Given the description of an element on the screen output the (x, y) to click on. 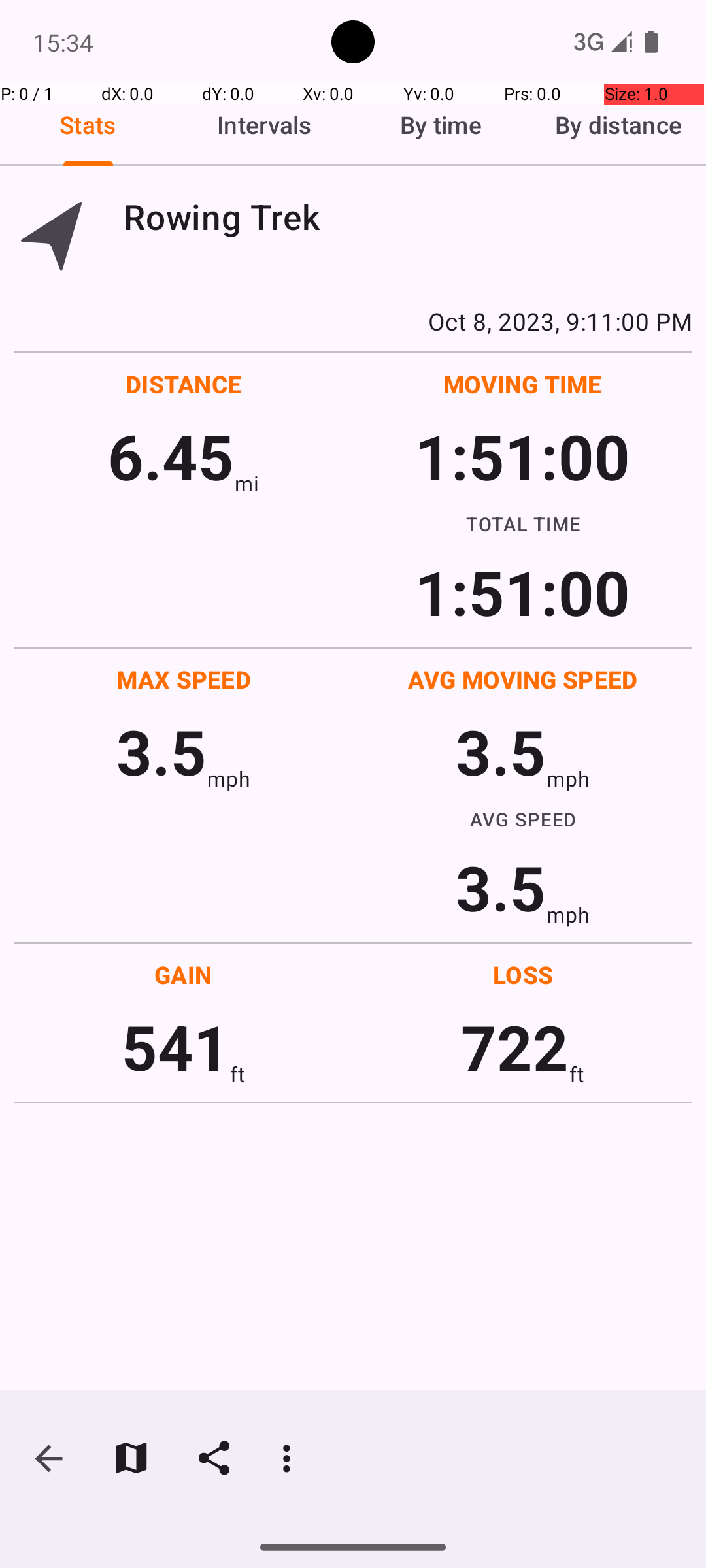
Stats Element type: android.widget.LinearLayout (88, 124)
Intervals Element type: android.widget.LinearLayout (264, 124)
By time Element type: android.widget.LinearLayout (441, 124)
By distance Element type: android.widget.LinearLayout (617, 124)
Show on map Element type: android.widget.Button (130, 1458)
Rowing Trek Element type: android.widget.TextView (407, 216)
Oct 8, 2023, 9:11:00 PM Element type: android.widget.TextView (352, 320)
DISTANCE Element type: android.widget.TextView (183, 383)
MOVING TIME Element type: android.widget.TextView (522, 383)
6.45 Element type: android.widget.TextView (170, 455)
mi Element type: android.widget.TextView (246, 483)
1:51:00 Element type: android.widget.TextView (522, 455)
TOTAL TIME Element type: android.widget.TextView (522, 523)
MAX SPEED Element type: android.widget.TextView (183, 678)
AVG MOVING SPEED Element type: android.widget.TextView (522, 678)
3.5 Element type: android.widget.TextView (161, 750)
mph Element type: android.widget.TextView (228, 778)
AVG SPEED Element type: android.widget.TextView (522, 818)
GAIN Element type: android.widget.TextView (183, 974)
LOSS Element type: android.widget.TextView (522, 974)
541 Element type: android.widget.TextView (175, 1045)
ft Element type: android.widget.TextView (237, 1073)
722 Element type: android.widget.TextView (514, 1045)
